Given the description of an element on the screen output the (x, y) to click on. 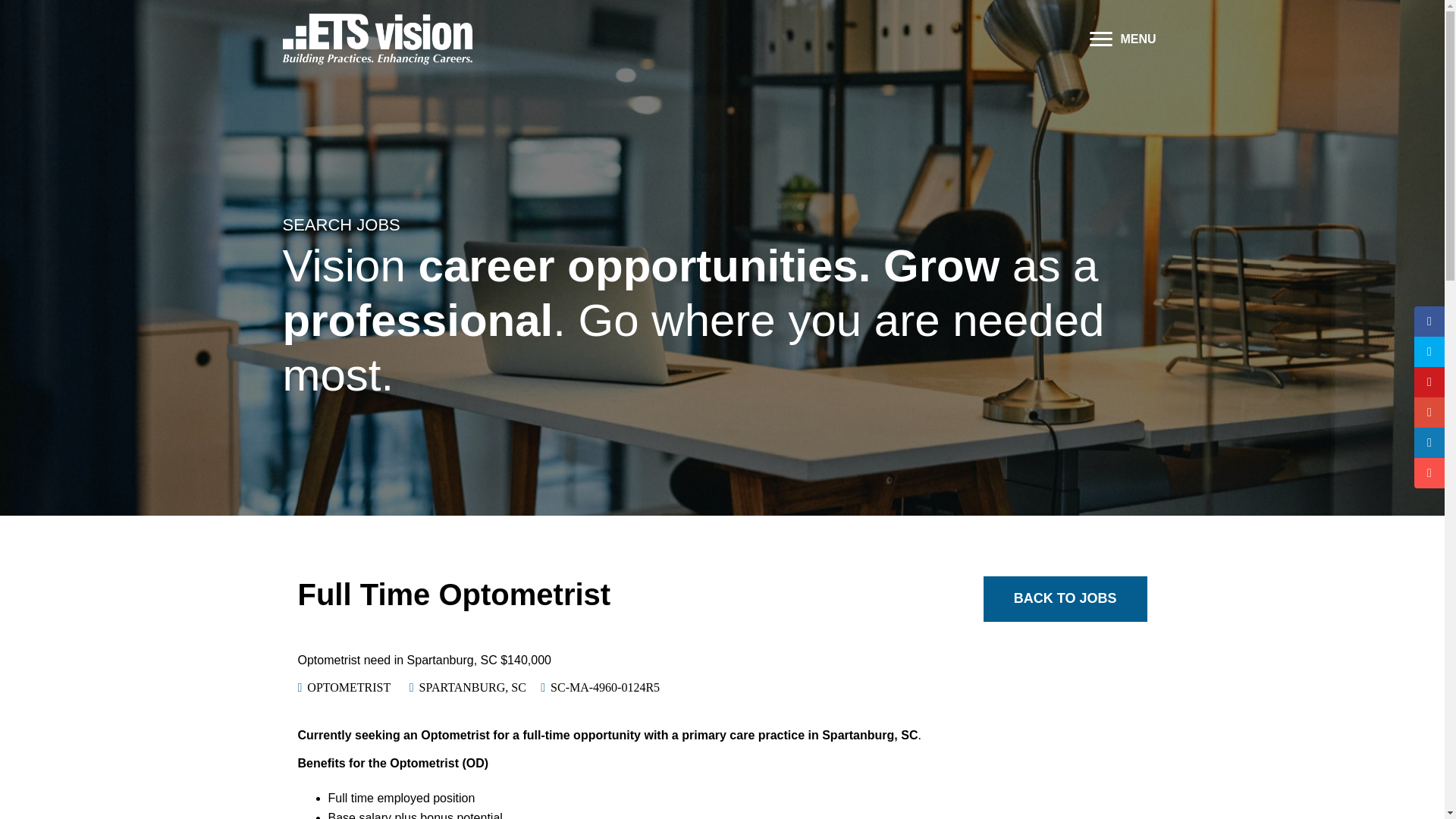
ETS Vision Logo (376, 39)
BACK TO JOBS (1065, 598)
